Given the description of an element on the screen output the (x, y) to click on. 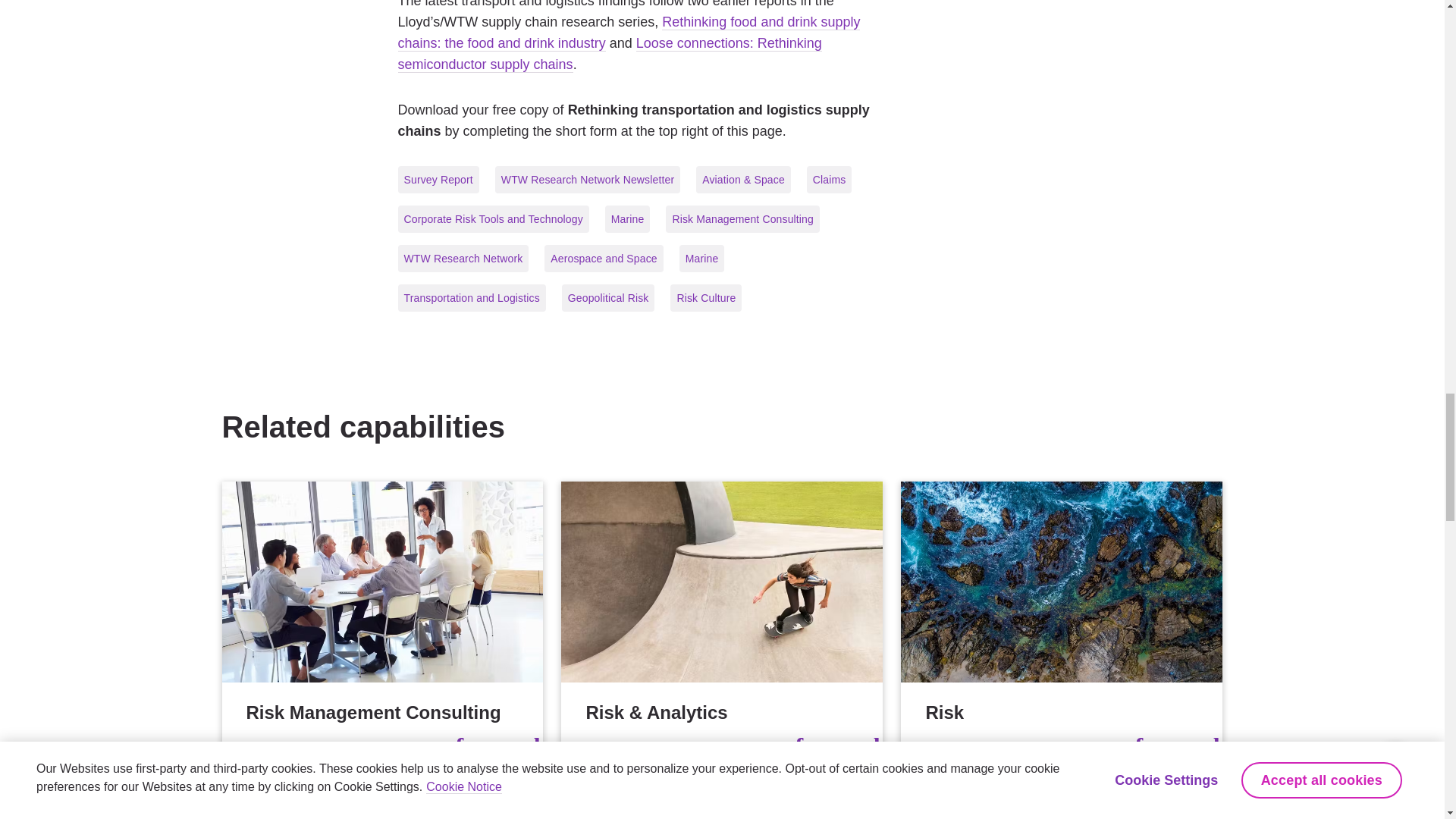
Risk (1062, 622)
Risk Management Consulting (382, 622)
Marine (1062, 800)
Transportation and Logistics (382, 800)
